Given the description of an element on the screen output the (x, y) to click on. 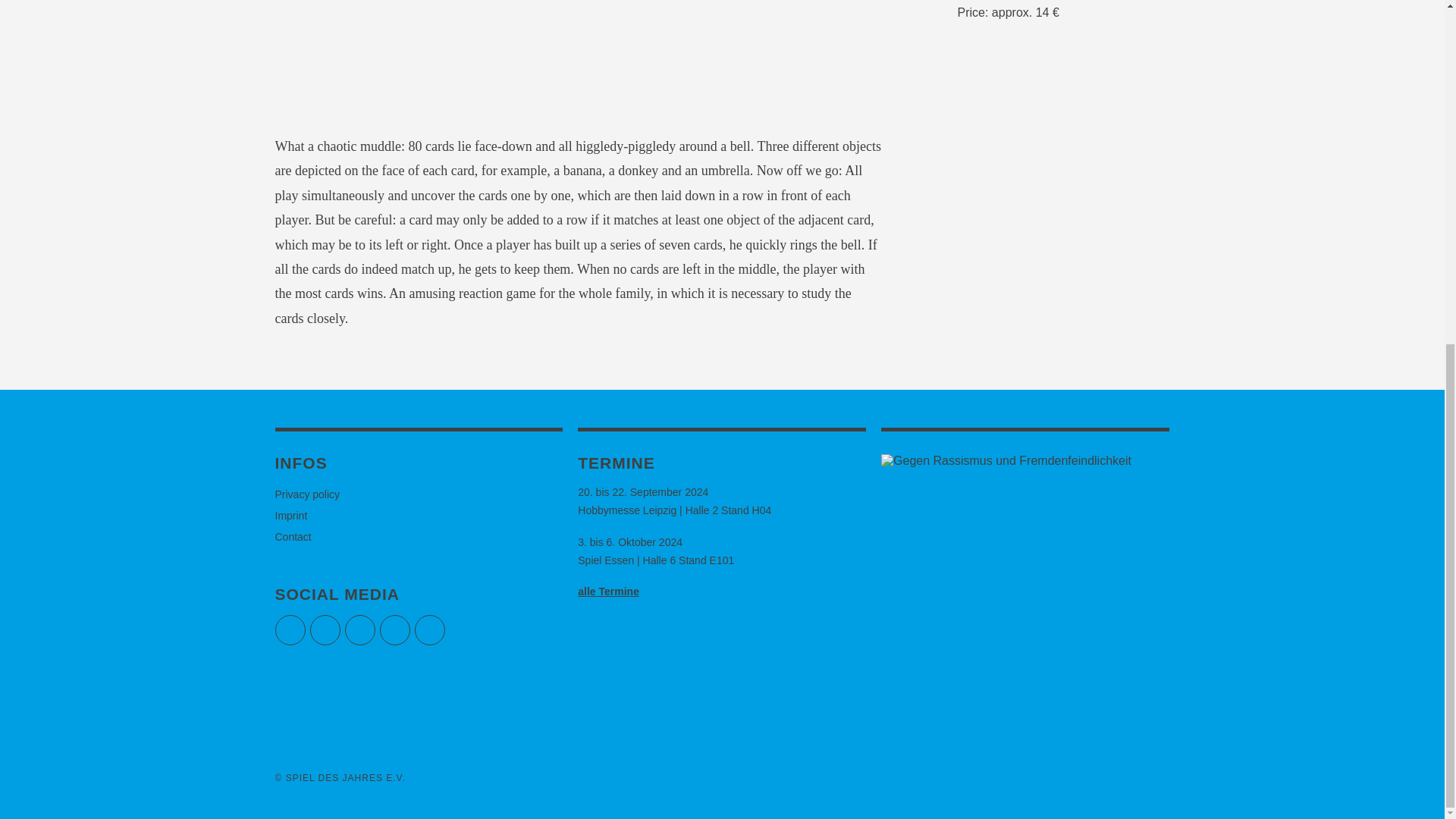
Twitter (289, 630)
Instagram (358, 630)
Contact (293, 536)
RSS Feed (428, 630)
Instagram (358, 630)
Imprint (291, 515)
RSS Feed (428, 630)
alle Termine (608, 591)
Facebook (323, 630)
YouTube (393, 630)
